Given the description of an element on the screen output the (x, y) to click on. 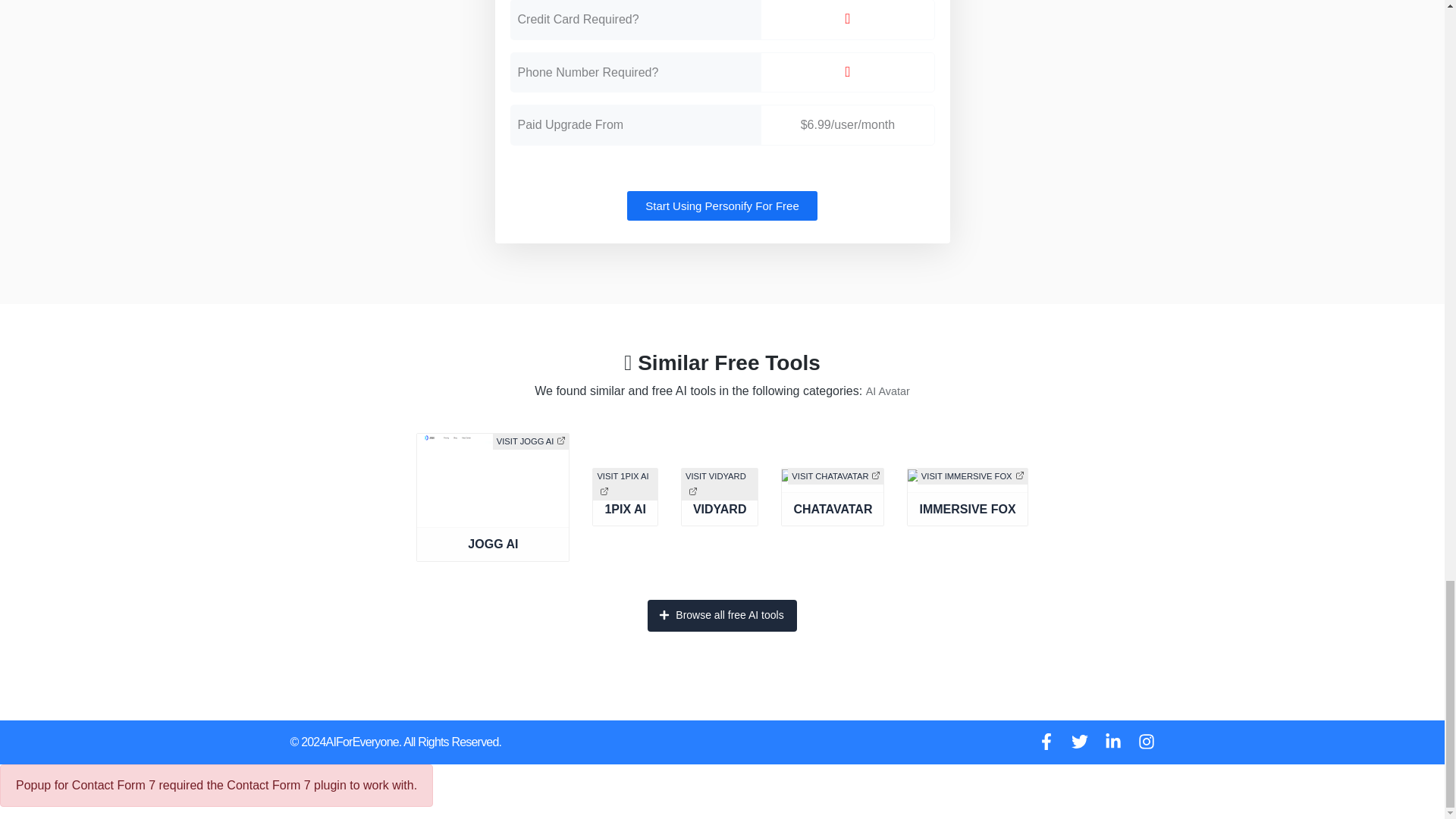
Chatavatar (832, 518)
1Pix AI (625, 518)
Immersive Fox (966, 518)
Vidyard (719, 518)
Jogg AI (492, 571)
